Given the description of an element on the screen output the (x, y) to click on. 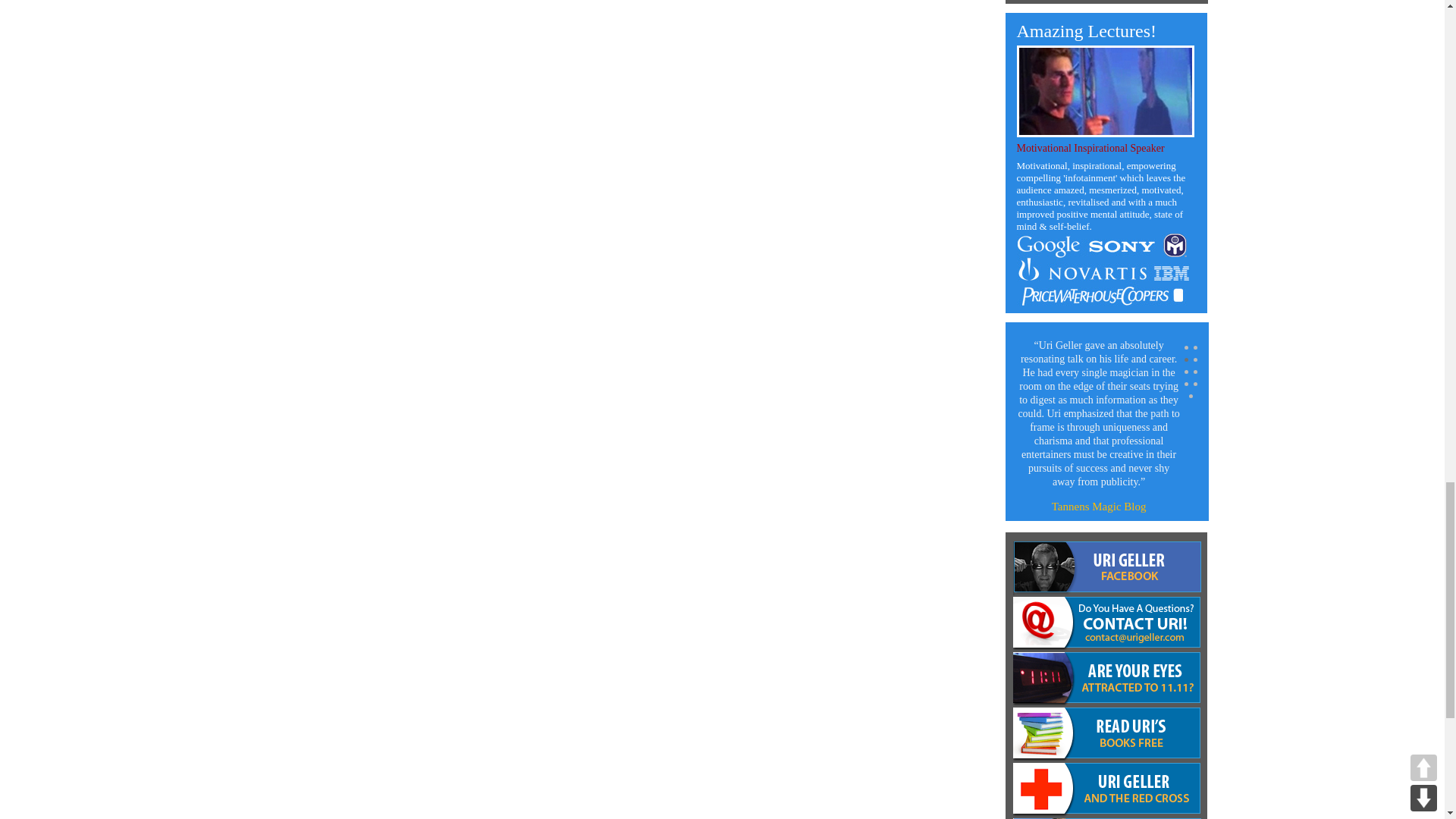
Motivational Inspirational Speaker (1089, 147)
